Given the description of an element on the screen output the (x, y) to click on. 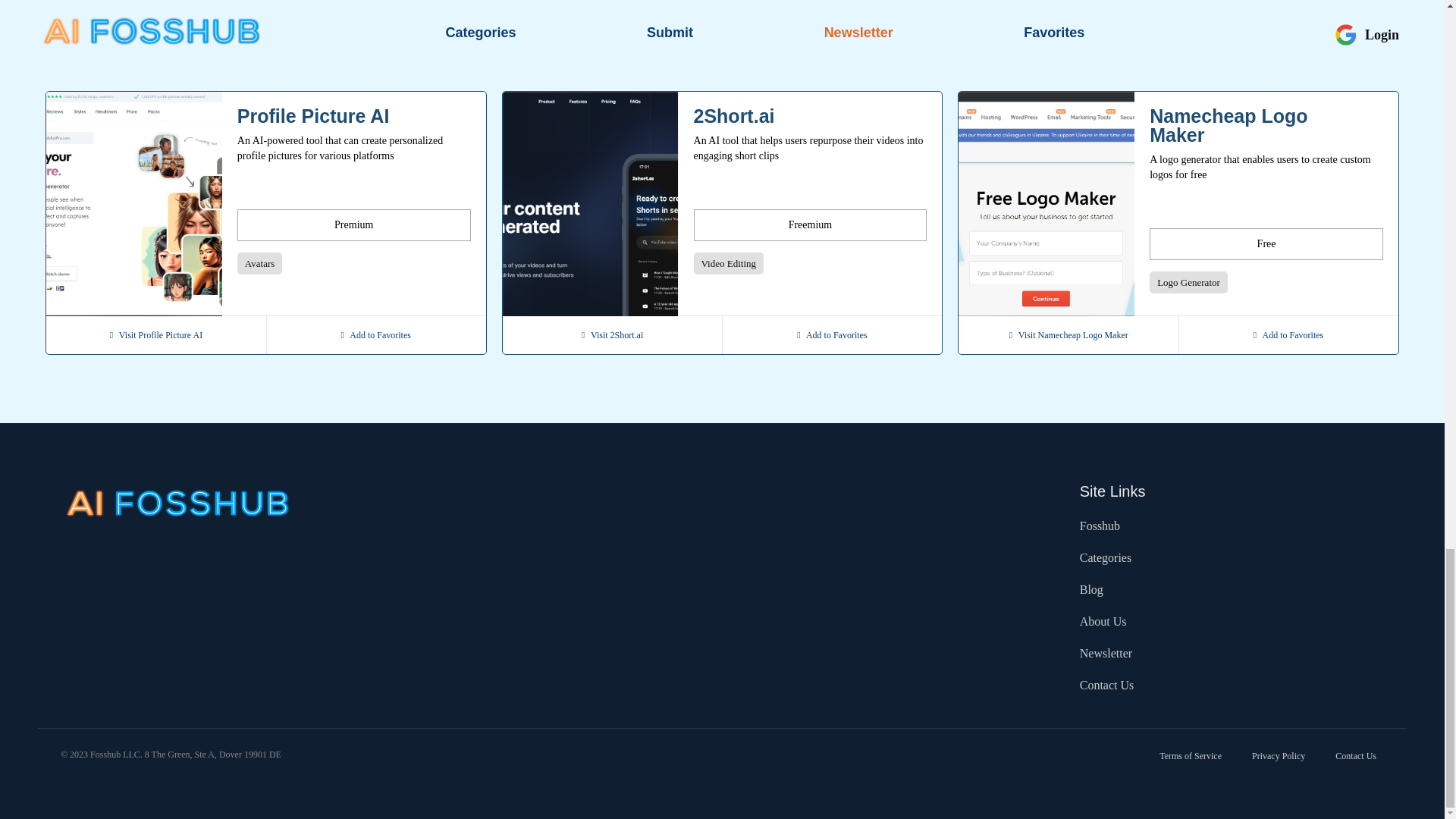
Blog (1091, 589)
About Us (1103, 621)
Namecheap Logo Maker (1254, 125)
Sign in to add favorites (376, 334)
Sign in to add favorites (1287, 334)
Avatars (259, 263)
Add to Favorites (376, 334)
Contact Us (1355, 756)
Add to Favorites (1287, 334)
Profile Picture AI (342, 116)
